Given the description of an element on the screen output the (x, y) to click on. 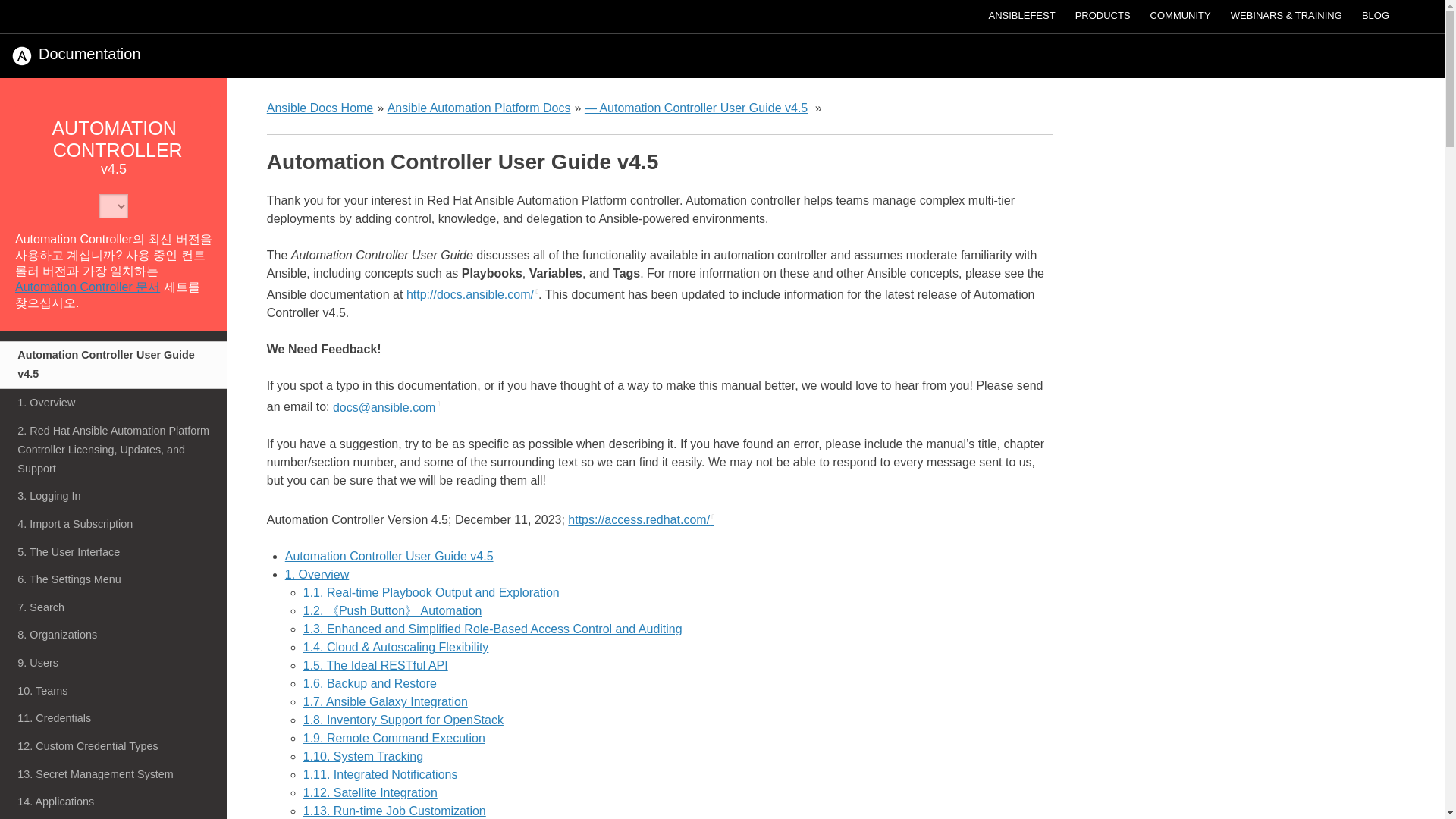
BLOG (1375, 15)
PRODUCTS (1102, 15)
COMMUNITY (1180, 15)
ANSIBLEFEST (1021, 15)
